Given the description of an element on the screen output the (x, y) to click on. 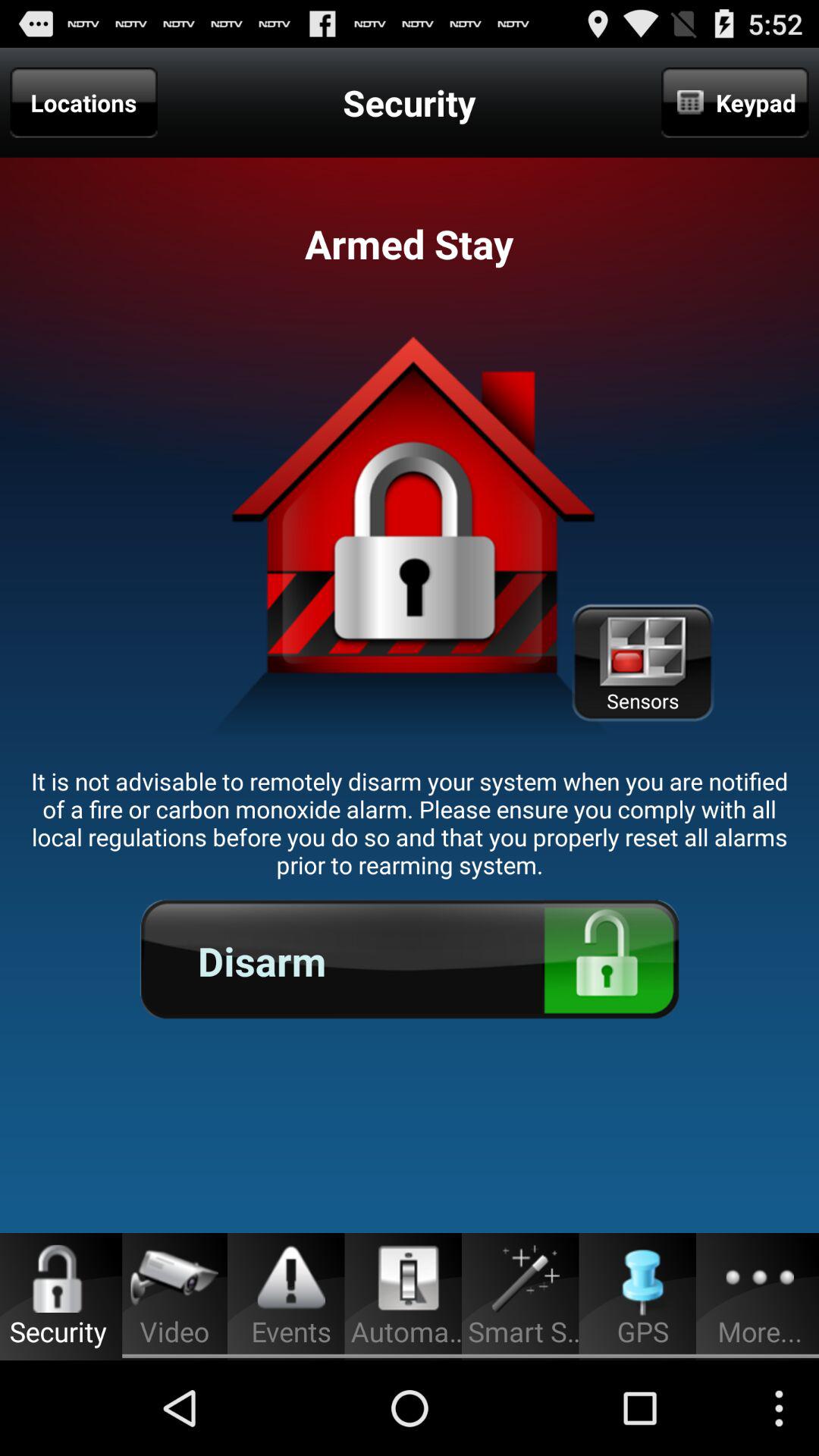
choose app next to security icon (734, 102)
